Given the description of an element on the screen output the (x, y) to click on. 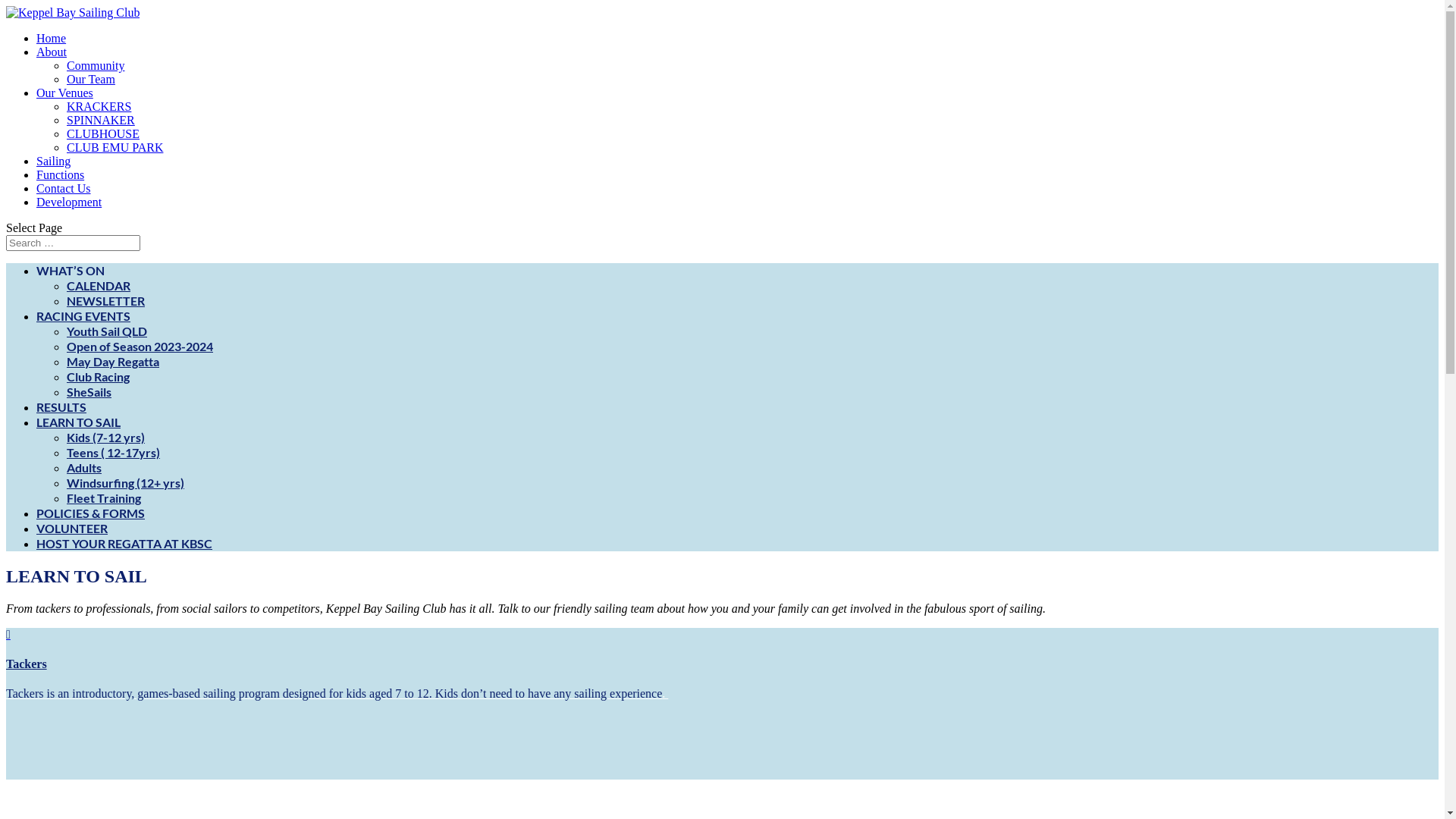
Search for: Element type: hover (73, 243)
KRACKERS Element type: text (98, 106)
LEARN TO SAIL Element type: text (78, 421)
Home Element type: text (50, 37)
RESULTS Element type: text (61, 406)
SheSails Element type: text (88, 391)
Windsurfing (12+ yrs) Element type: text (125, 482)
SPINNAKER Element type: text (100, 119)
Youth Sail QLD Element type: text (106, 330)
Teens ( 12-17yrs) Element type: text (113, 452)
Fleet Training Element type: text (103, 497)
VOLUNTEER Element type: text (71, 527)
HOST YOUR REGATTA AT KBSC Element type: text (124, 543)
About Element type: text (51, 51)
Development Element type: text (68, 201)
RACING EVENTS Element type: text (83, 315)
Our Team Element type: text (90, 78)
CALENDAR Element type: text (98, 285)
Sailing Element type: text (53, 160)
Community Element type: text (95, 65)
POLICIES & FORMS Element type: text (90, 512)
Club Racing Element type: text (97, 376)
Our Venues Element type: text (64, 92)
Contact Us Element type: text (63, 188)
Open of Season 2023-2024 Element type: text (139, 345)
Functions Element type: text (60, 174)
NEWSLETTER Element type: text (105, 300)
Kids (7-12 yrs) Element type: text (105, 436)
CLUB EMU PARK Element type: text (114, 147)
Tackers Element type: text (26, 663)
May Day Regatta Element type: text (112, 361)
Adults Element type: text (83, 467)
CLUBHOUSE Element type: text (102, 133)
